Given the description of an element on the screen output the (x, y) to click on. 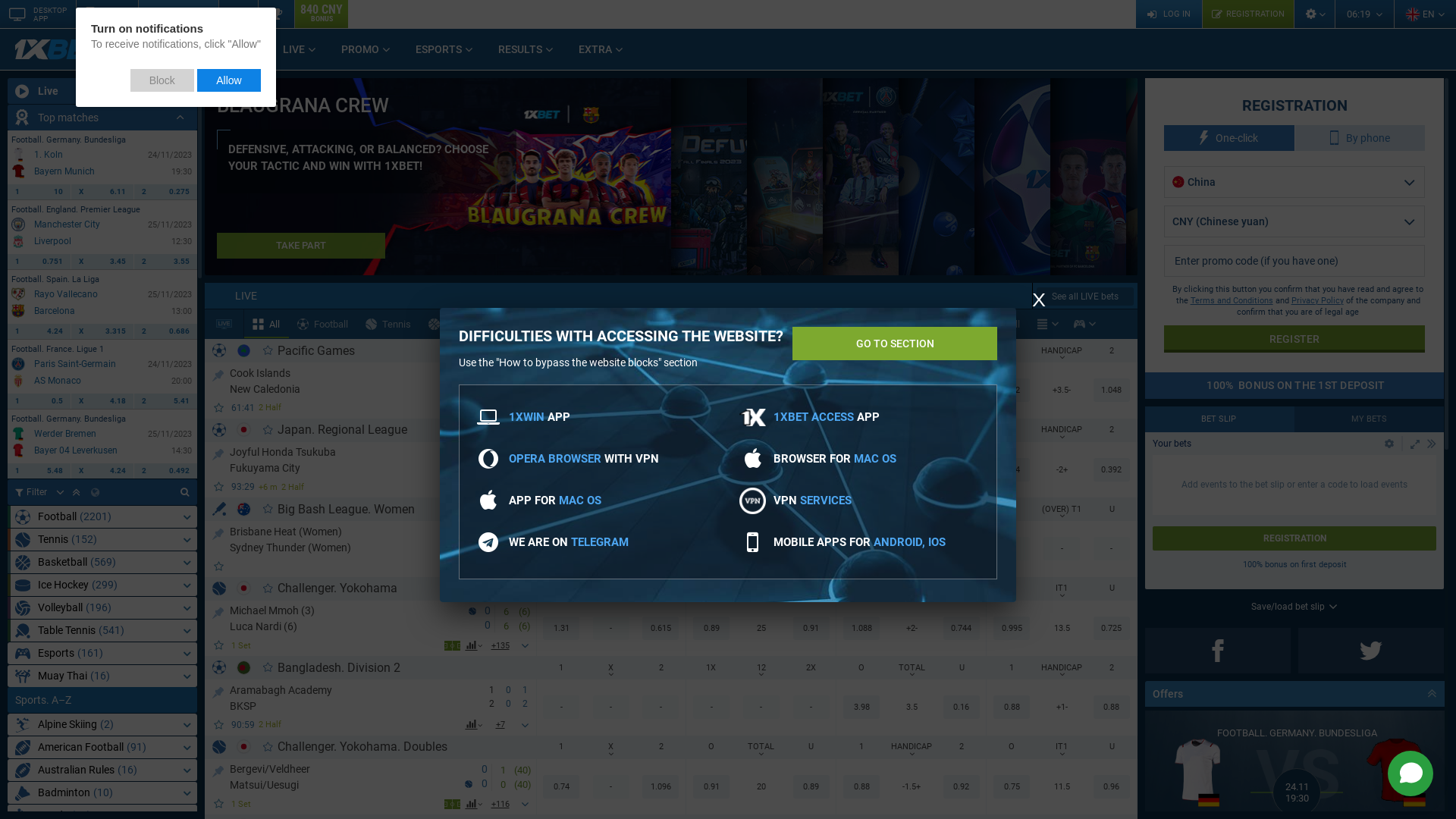
Results Element type: hover (275, 14)
Table Tennis
(541) Element type: text (102, 630)
Basketball Element type: text (459, 323)
Australia Element type: hover (243, 508)
100% bonus on first deposit Element type: text (1294, 564)
MOBILE APPS FOR ANDROID, IOS Element type: text (859, 542)
By phone Element type: text (1360, 137)
MOBILE
APP Element type: text (106, 14)
ESPORTS Element type: text (444, 48)
VPN SERVICES Element type: text (812, 500)
Badminton Element type: text (917, 323)
WE ARE ON TELEGRAM Element type: text (568, 542)
Table Tennis Element type: text (701, 323)
Muay Thai
(16) Element type: text (102, 676)
Brisbane Heat (Women)
Sydney Thunder (Women) Element type: text (362, 537)
+120 Element type: text (499, 803)
Alpine Skiing
(2) Element type: text (102, 724)
Joyful Honda Tsukuba
Fukuyama City Element type: text (351, 458)
+118 Element type: text (499, 565)
AS Monaco.  Element type: hover (18, 380)
X
4.24 Element type: text (102, 470)
Aramabagh Academy
BKSP Element type: text (351, 696)
Ice Hockey
(299) Element type: text (102, 585)
LIVE Element type: text (629, 295)
1
4.24 Element type: text (38, 330)
Esports menu Element type: hover (1084, 323)
Liverpool. Liverpool Element type: hover (18, 240)
PAYMENTS Element type: text (178, 14)
TOP Element type: hover (217, 689)
Menu Element type: hover (1042, 323)
Rayo Vallecano. Madrid Element type: hover (18, 294)
Collapse/Expand all Element type: hover (179, 117)
Promo code Element type: hover (1294, 260)
Football Element type: text (322, 323)
Manchester City. Manchester Element type: hover (18, 224)
Group events by country Element type: hover (94, 492)
+7 Element type: text (499, 724)
DESKTOP
APP Element type: text (37, 14)
Football
(2201) Element type: text (102, 516)
Ice Hockey Element type: text (540, 323)
1
5.48 Element type: text (38, 470)
1XWIN APP Element type: text (539, 416)
100% BONUS ON THE 1ST DEPOSIT Element type: text (1294, 385)
TAKE PART Element type: text (300, 245)
1. Koln. Cologne Element type: hover (18, 154)
Show 1xZone Element type: hover (452, 804)
+44 Element type: text (499, 486)
TOP Element type: hover (217, 530)
Challenger. Yokohama Element type: text (337, 587)
Show 1xZone Element type: hover (452, 407)
Terms and Conditions Element type: text (1231, 300)
2
3.55 Element type: text (165, 261)
Save/load bet slip Element type: text (1294, 606)
Collapse block/Expand block Element type: hover (1431, 443)
PROMO Element type: text (366, 48)
Japan. Regional League Element type: text (342, 429)
1
0.5 Element type: text (38, 400)
Statistics Element type: hover (237, 14)
Bergevi/Veldheer
Matsui/Uesugi Element type: text (346, 775)
Collapse/Expand all Element type: hover (1433, 694)
See all LIVE bets Element type: text (1084, 296)
Add event to favorites Element type: hover (219, 566)
EXTRA Element type: text (601, 48)
TOP Element type: hover (217, 451)
Challenger. Yokohama. Doubles Element type: text (362, 746)
Open Element type: hover (1388, 443)
Show streaming games Element type: hover (224, 324)
Show 1xZone Element type: hover (452, 644)
RESULTS Element type: text (526, 48)
Privacy Policy Element type: text (1317, 300)
Japan Element type: hover (243, 746)
Basketball
(569) Element type: text (102, 562)
All Element type: text (266, 323)
1XBET ACCESS APP Element type: text (826, 416)
BLACK FRIDAY
GET YOUR 50% CASHBACK RIGHT NOW!
TAKE PART Element type: text (437, 176)
TOP Element type: hover (217, 768)
American Football
(91) Element type: text (102, 747)
Add event to favorites Element type: hover (219, 407)
Volleyball
(196) Element type: text (102, 607)
BROWSER FOR MAC OS Element type: text (834, 458)
SPORTS Element type: text (232, 48)
Australian Rules
(16) Element type: text (102, 770)
TOP Element type: hover (217, 372)
GO TO SECTION Element type: text (894, 343)
Werder Bremen. Bremen Element type: hover (18, 433)
Barcelona. Barcelona Element type: hover (18, 310)
2
0.492 Element type: text (165, 470)
Add event to favorites Element type: hover (219, 486)
Tennis Element type: text (388, 323)
APP FOR MAC OS Element type: text (554, 500)
Esports Element type: text (843, 323)
TOP Element type: hover (217, 610)
Bayer 04 Leverkusen. Leverkusen Element type: hover (18, 450)
Baseball Element type: text (993, 323)
One-click Element type: text (1229, 137)
X
6.11 Element type: text (102, 191)
2
0.275 Element type: text (165, 191)
Tennis
(152) Element type: text (102, 539)
Volleyball Element type: text (619, 323)
840 CNY
BONUS Element type: text (321, 14)
BET SLIP Element type: text (1219, 419)
1
0.751 Element type: text (38, 261)
Search Element type: hover (184, 492)
Bangladesh Element type: hover (243, 667)
Settings Element type: hover (1313, 14)
LIVE Element type: text (299, 48)
Allow Element type: text (228, 80)
X
3.45 Element type: text (102, 261)
+70 Element type: text (499, 407)
X
3.315 Element type: text (102, 330)
Japan Element type: hover (243, 587)
Add event to favorites Element type: hover (219, 724)
Live Element type: text (102, 90)
2
5.41 Element type: text (165, 400)
+130 Element type: text (499, 644)
Collapse/Expand Element type: hover (1414, 443)
World Element type: hover (243, 350)
1
10 Element type: text (38, 191)
Paris Saint-Germain. Paris Element type: hover (18, 363)
Pacific Games Element type: text (315, 349)
REGISTRATION Element type: text (1294, 538)
Add event to favorites Element type: hover (219, 803)
Michael Mmoh (3)
Luca Nardi (6) Element type: text (348, 617)
Add event to favorites Element type: hover (219, 644)
MY BETS Element type: text (1368, 419)
Show video stream Element type: hover (453, 487)
Collapse selected Element type: hover (75, 492)
Big Bash League. Women Element type: text (345, 509)
OPERA BROWSER WITH VPN Element type: text (583, 458)
Bayern Munich. Munich Element type: hover (18, 171)
Badminton
(10) Element type: text (102, 792)
Block Element type: text (162, 80)
REGISTRATION Element type: text (1247, 14)
Cook Islands
New Caledonia Element type: text (351, 379)
Esports
(161) Element type: text (102, 653)
Sports menu Element type: hover (1047, 323)
2
0.686 Element type: text (165, 330)
Show 1xZone Element type: hover (474, 487)
X
4.18 Element type: text (102, 400)
Bangladesh. Division 2 Element type: text (338, 666)
Cricket Element type: text (778, 323)
Japan Element type: hover (243, 429)
Esports Element type: hover (1079, 323)
Pin left-hand menu Element type: hover (186, 90)
